Given the description of an element on the screen output the (x, y) to click on. 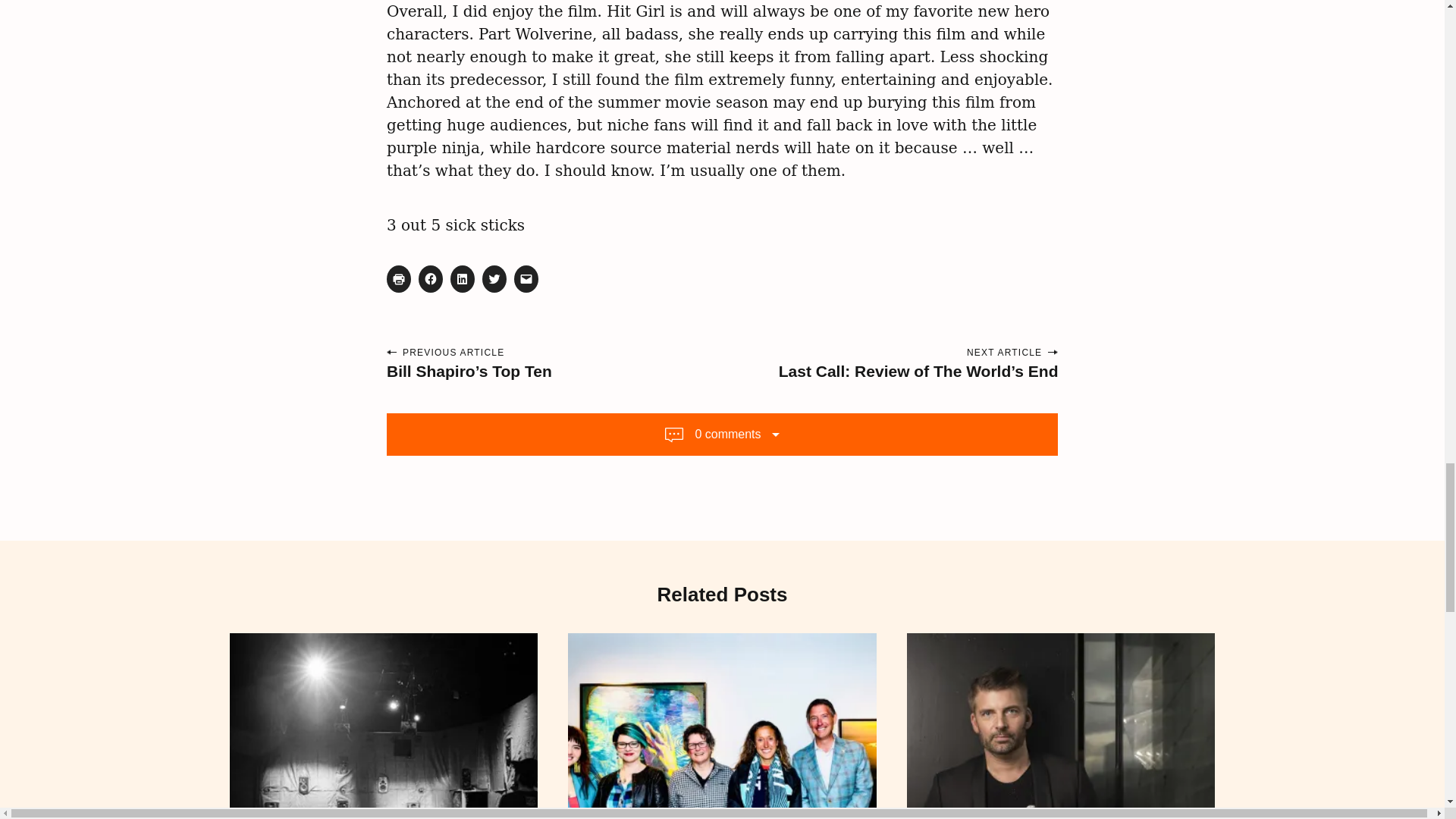
Click to share on Facebook (430, 278)
Click to share on Twitter (493, 278)
